Given the description of an element on the screen output the (x, y) to click on. 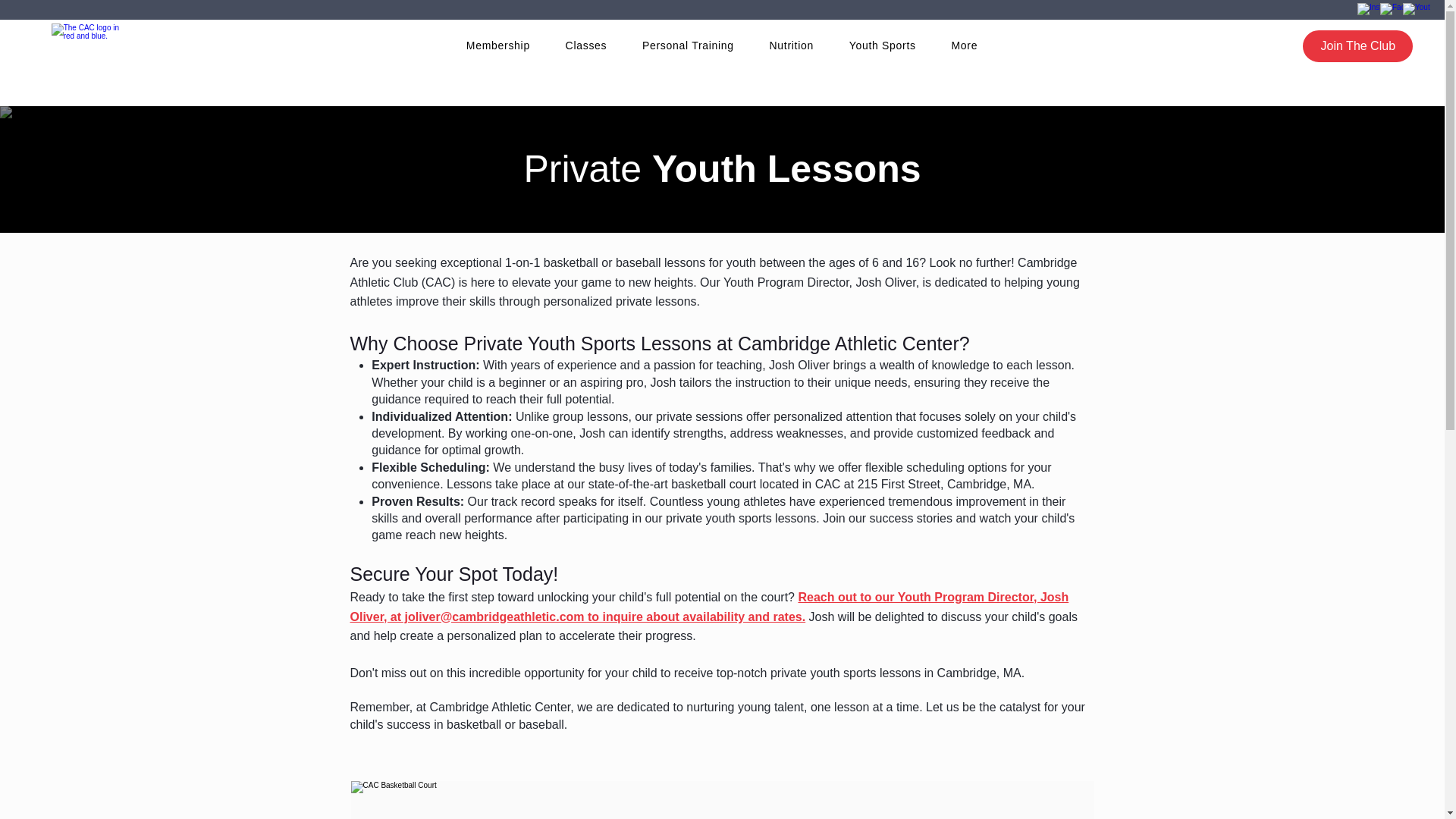
Join The Club (1357, 46)
